Given the description of an element on the screen output the (x, y) to click on. 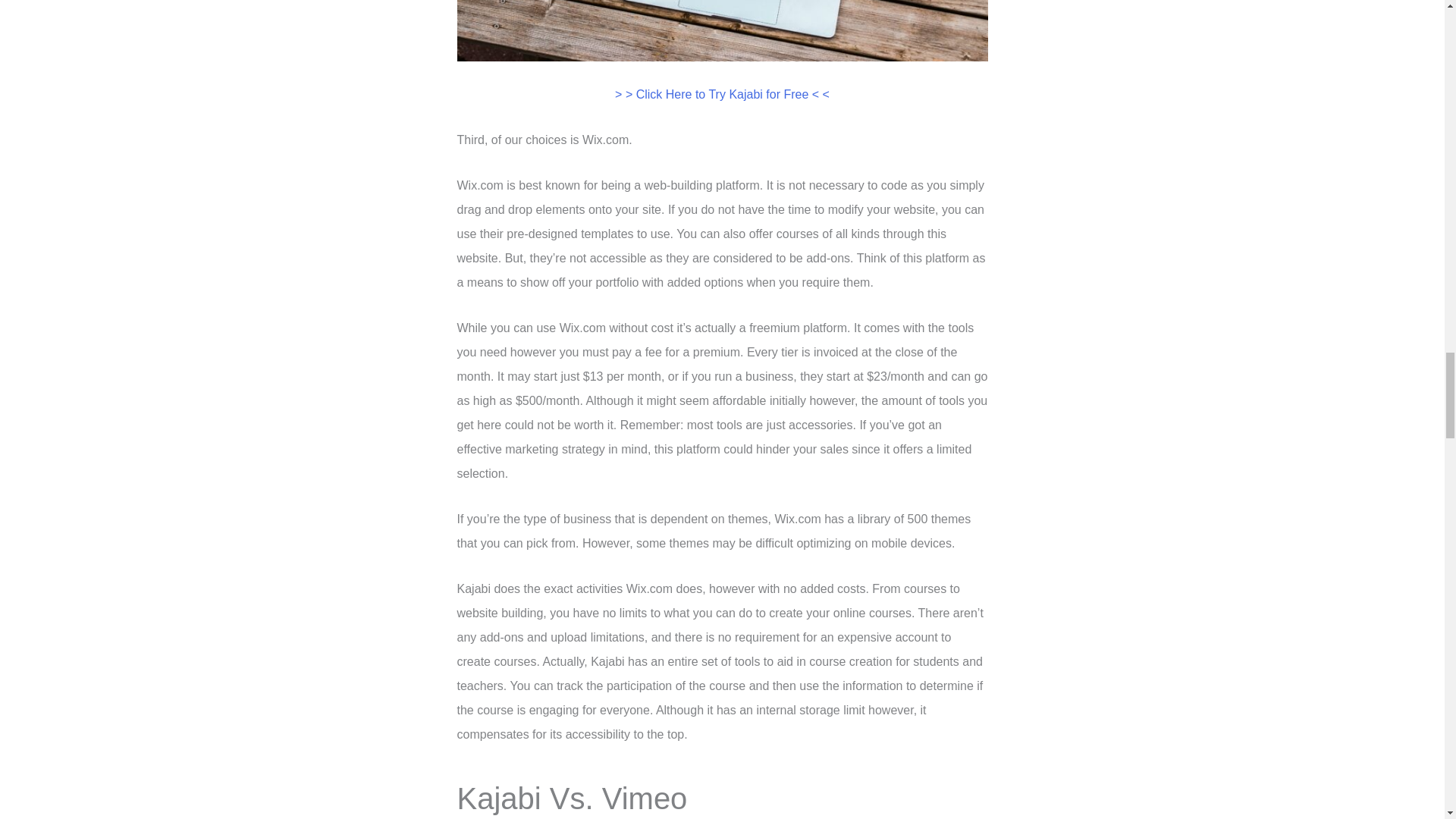
Kajabi Vs Kartra 2021 (722, 30)
